Given the description of an element on the screen output the (x, y) to click on. 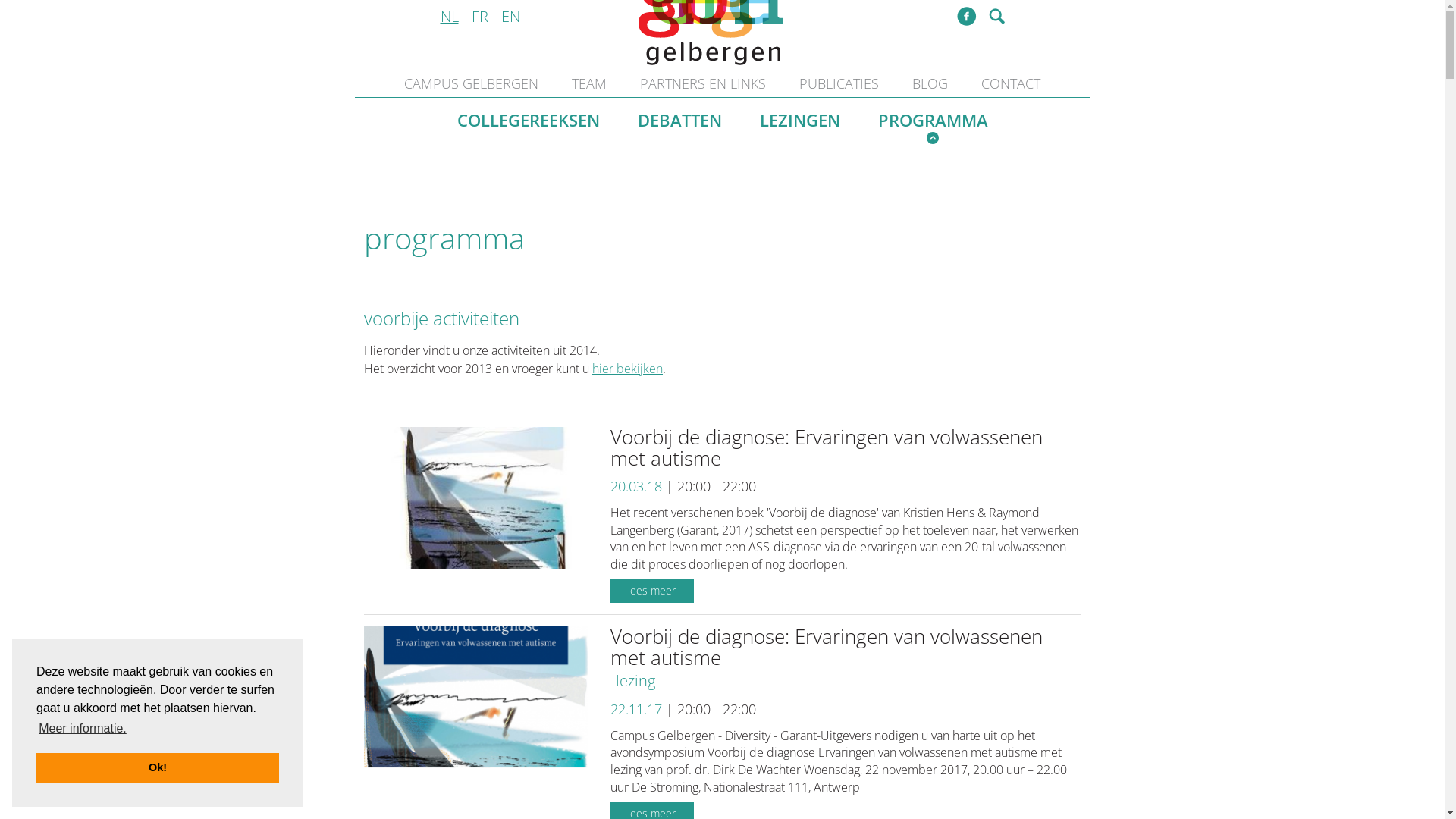
Ok! Element type: text (157, 767)
BLOG Element type: text (929, 83)
PARTNERS EN LINKS Element type: text (702, 83)
CONTACT Element type: text (1010, 83)
DEBATTEN Element type: text (679, 120)
LEZINGEN Element type: text (799, 120)
TEAM Element type: text (588, 83)
NL Element type: text (452, 15)
lees meer Element type: text (651, 590)
COLLEGEREEKSEN Element type: text (527, 120)
FR Element type: text (481, 15)
lezing Element type: text (635, 680)
CAMPUS GELBERGEN Element type: text (471, 83)
Meer informatie. Element type: text (82, 728)
hier bekijken Element type: text (627, 368)
PROGRAMMA Element type: text (933, 128)
EN Element type: text (512, 15)
PUBLICATIES Element type: text (838, 83)
